Given the description of an element on the screen output the (x, y) to click on. 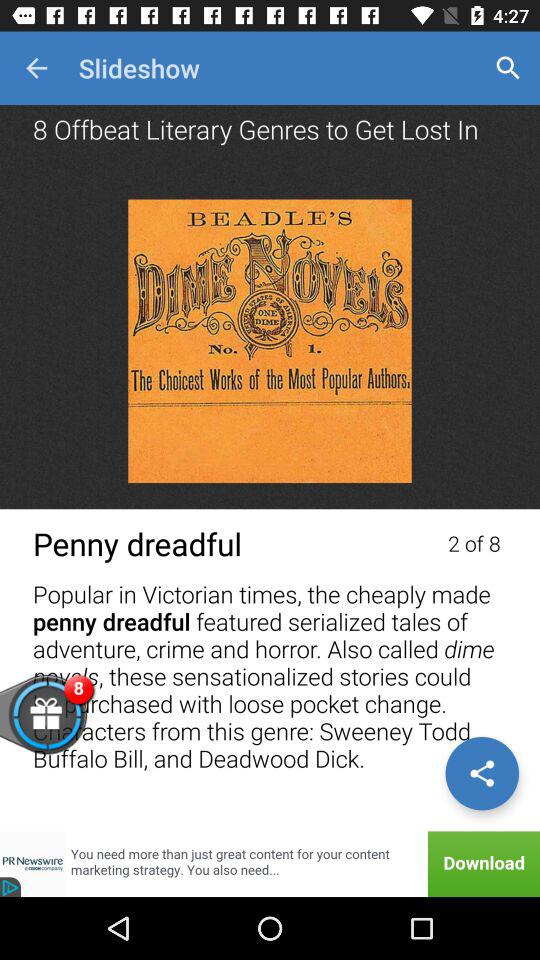
open gifts (78, 726)
